Given the description of an element on the screen output the (x, y) to click on. 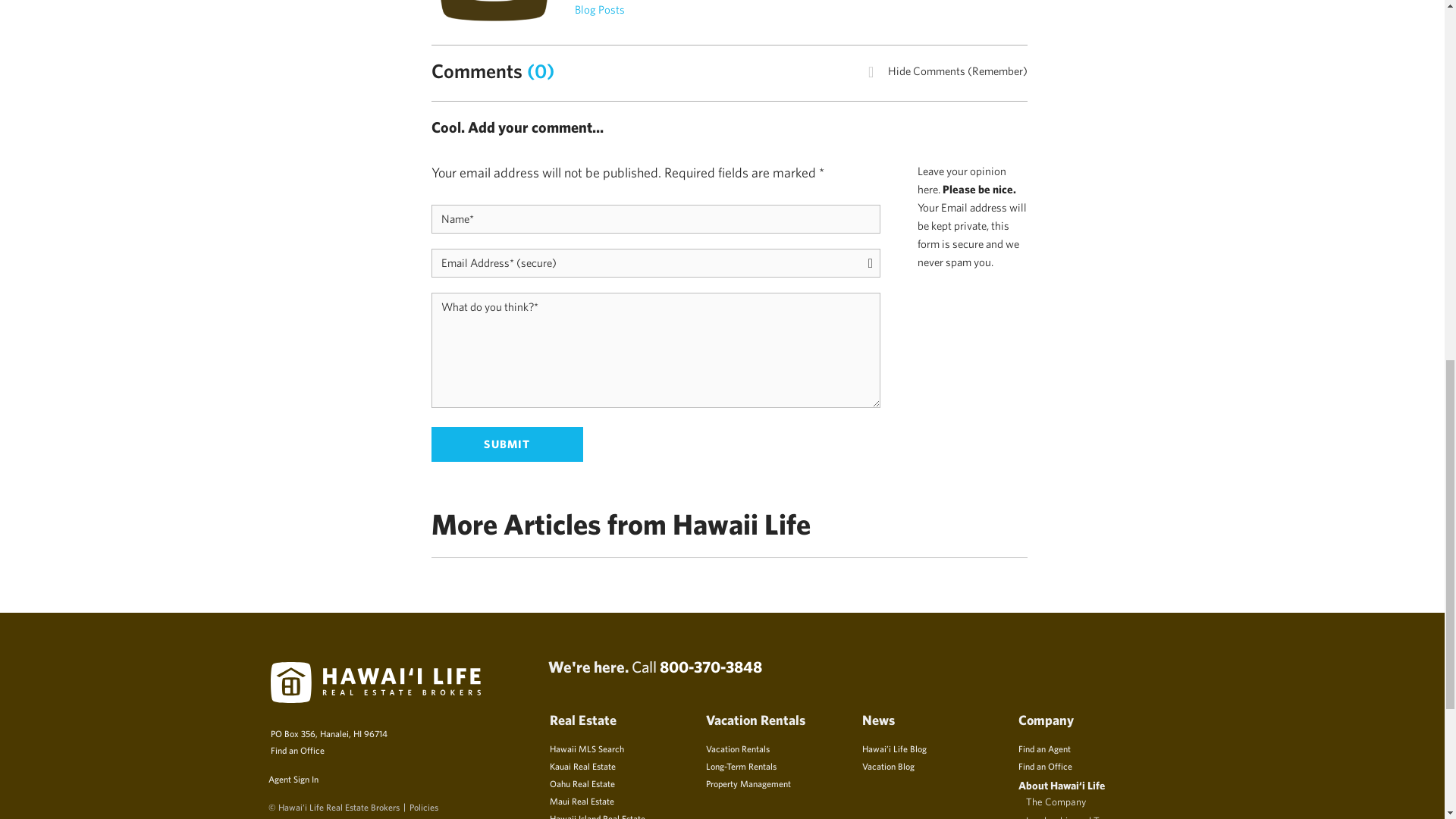
Submit (506, 444)
